Given the description of an element on the screen output the (x, y) to click on. 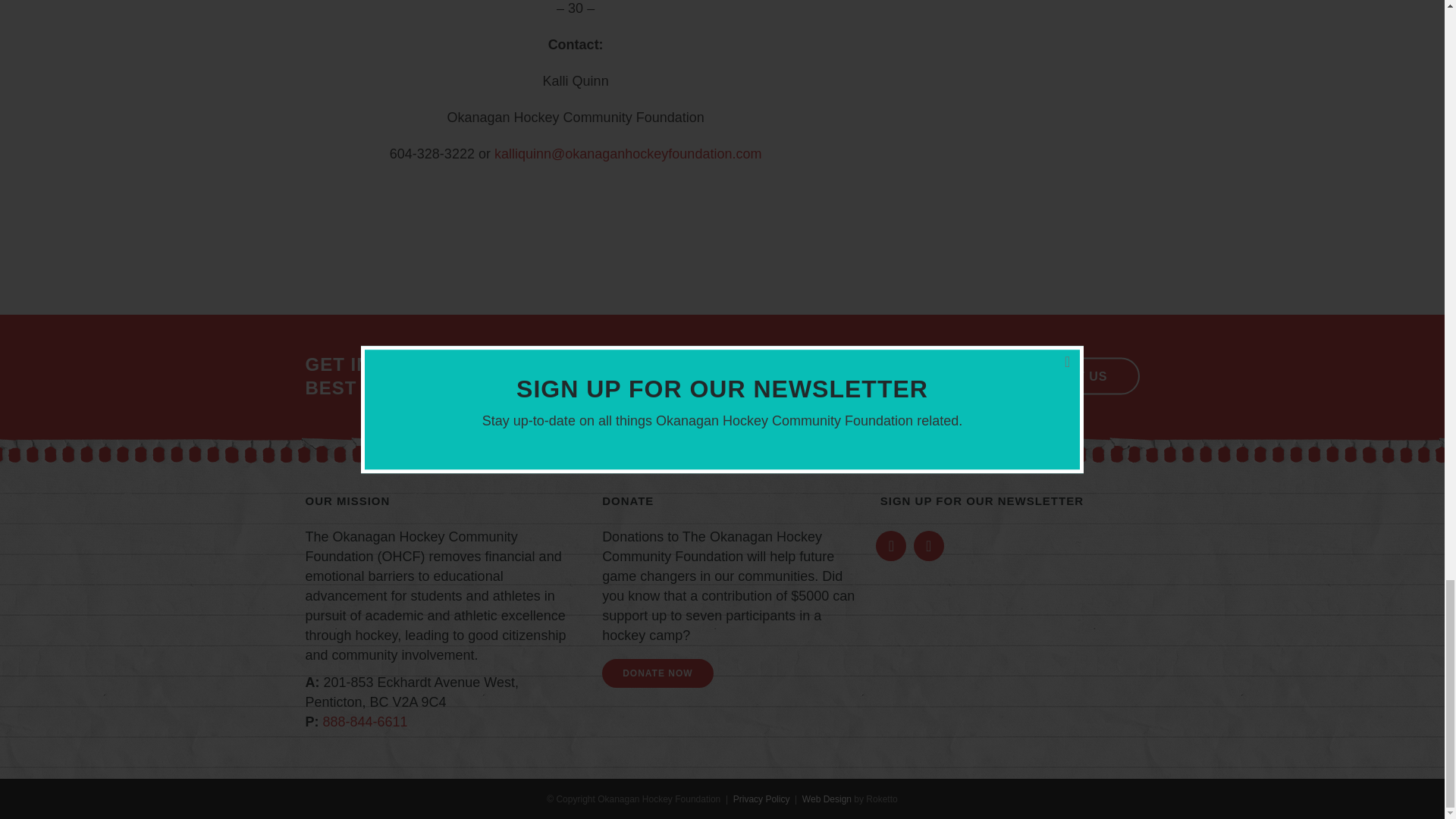
CONTACT US (1065, 375)
DONATE NOW (657, 673)
888-844-6611 (365, 721)
Privacy Policy (761, 798)
Web Design (826, 798)
